Given the description of an element on the screen output the (x, y) to click on. 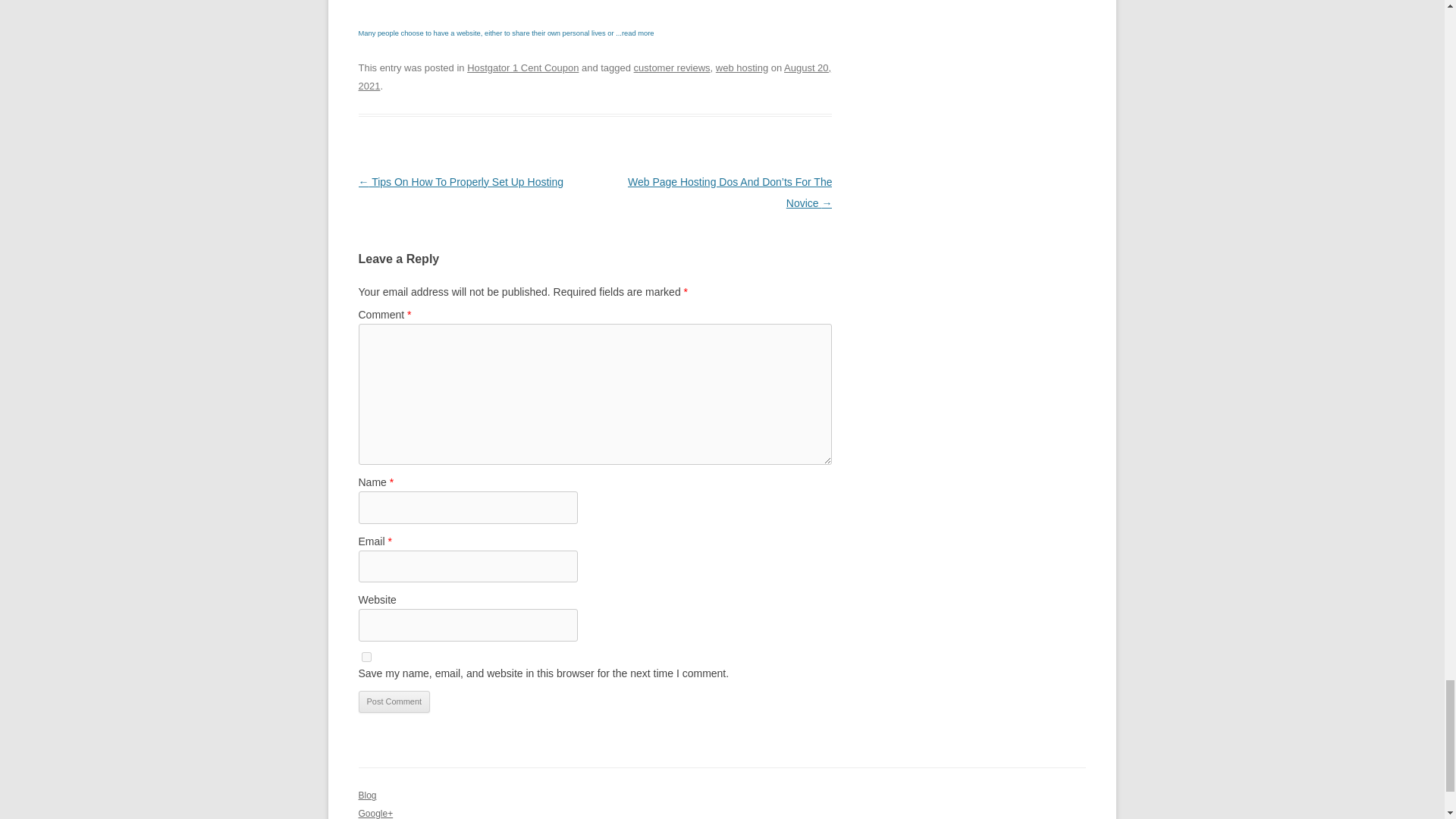
web hosting (742, 67)
Post Comment (393, 702)
customer reviews (671, 67)
yes (366, 656)
Blog (366, 795)
3:57 pm (594, 76)
August 20, 2021 (594, 76)
Post Comment (393, 702)
Hostgator 1 Cent Coupon (522, 67)
